Given the description of an element on the screen output the (x, y) to click on. 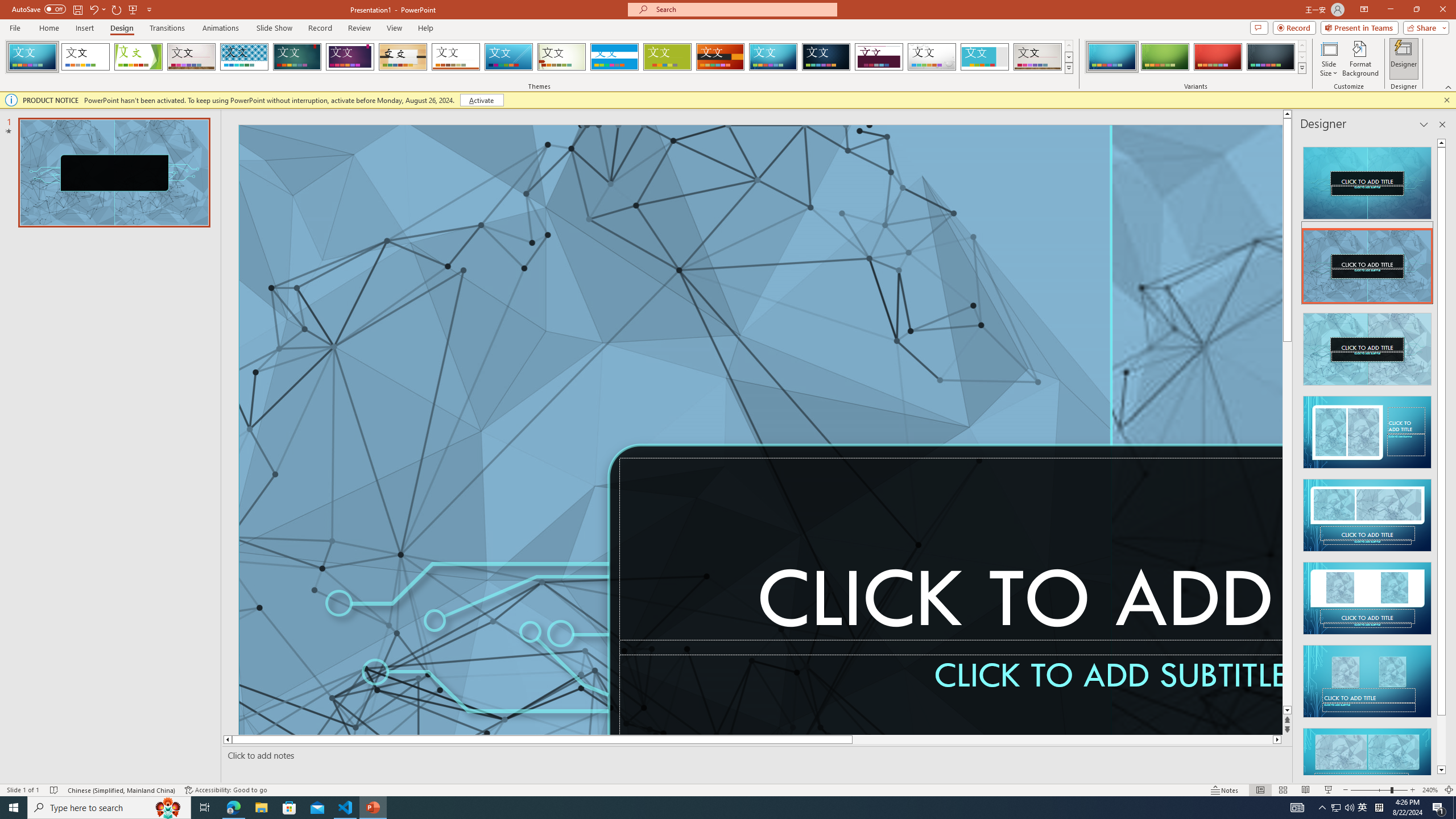
Decorative (594, 637)
Circuit Variant 2 (1164, 56)
Circuit Variant 3 (1217, 56)
